Given the description of an element on the screen output the (x, y) to click on. 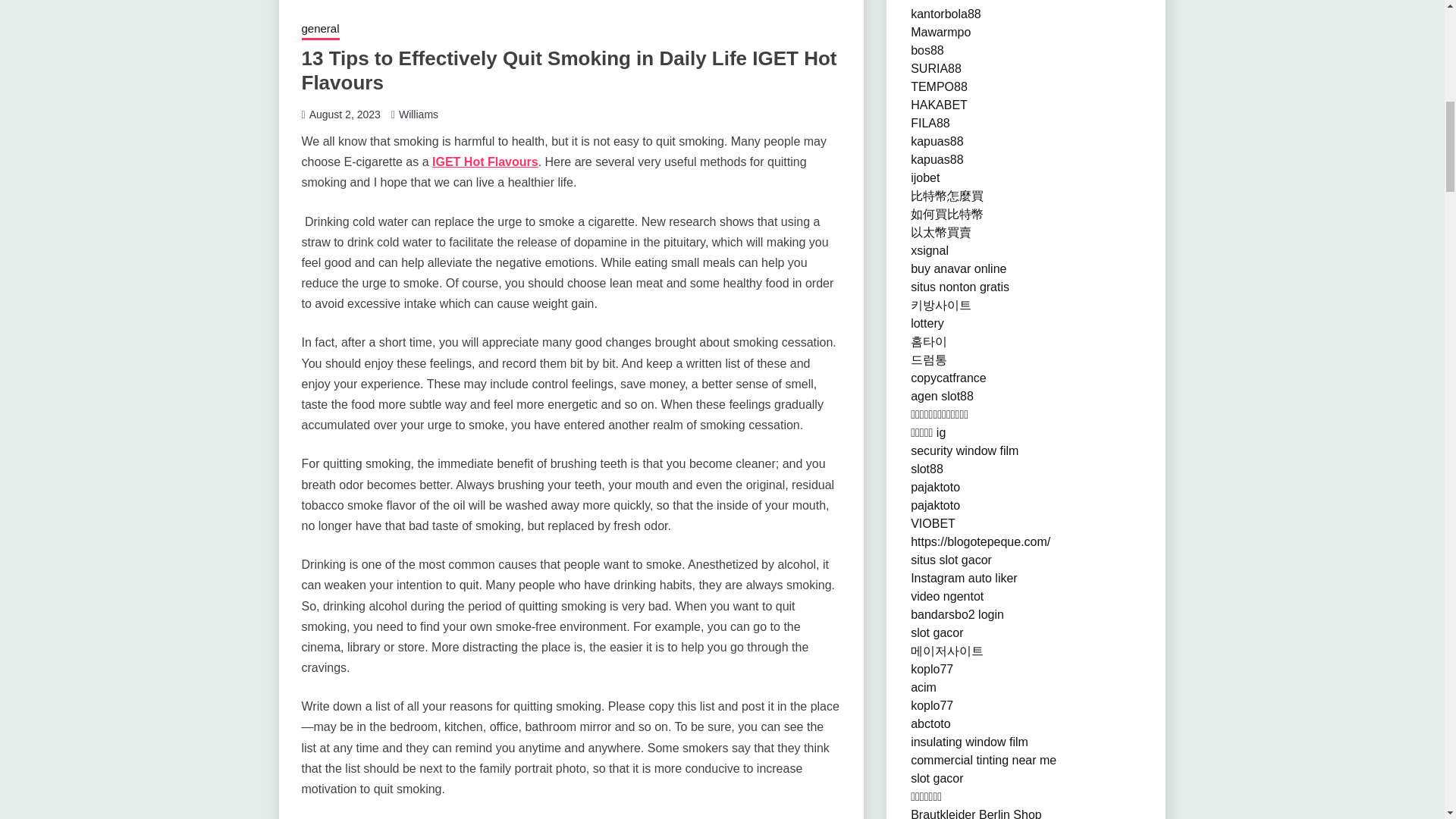
Williams (418, 114)
August 2, 2023 (344, 114)
IGET Hot Flavours (485, 161)
general (320, 30)
